Given the description of an element on the screen output the (x, y) to click on. 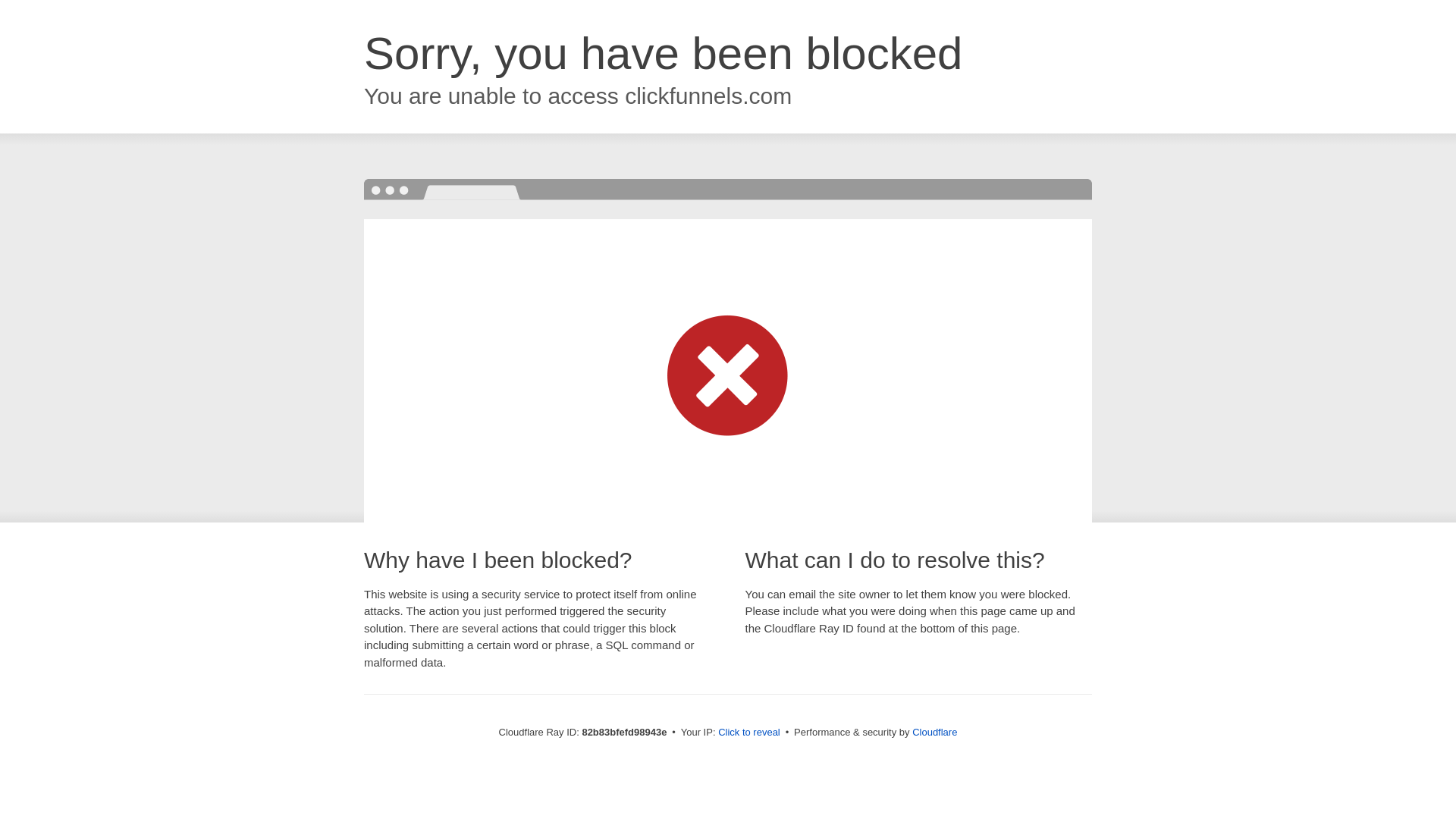
Click to reveal Element type: text (749, 732)
Cloudflare Element type: text (934, 731)
